Given the description of an element on the screen output the (x, y) to click on. 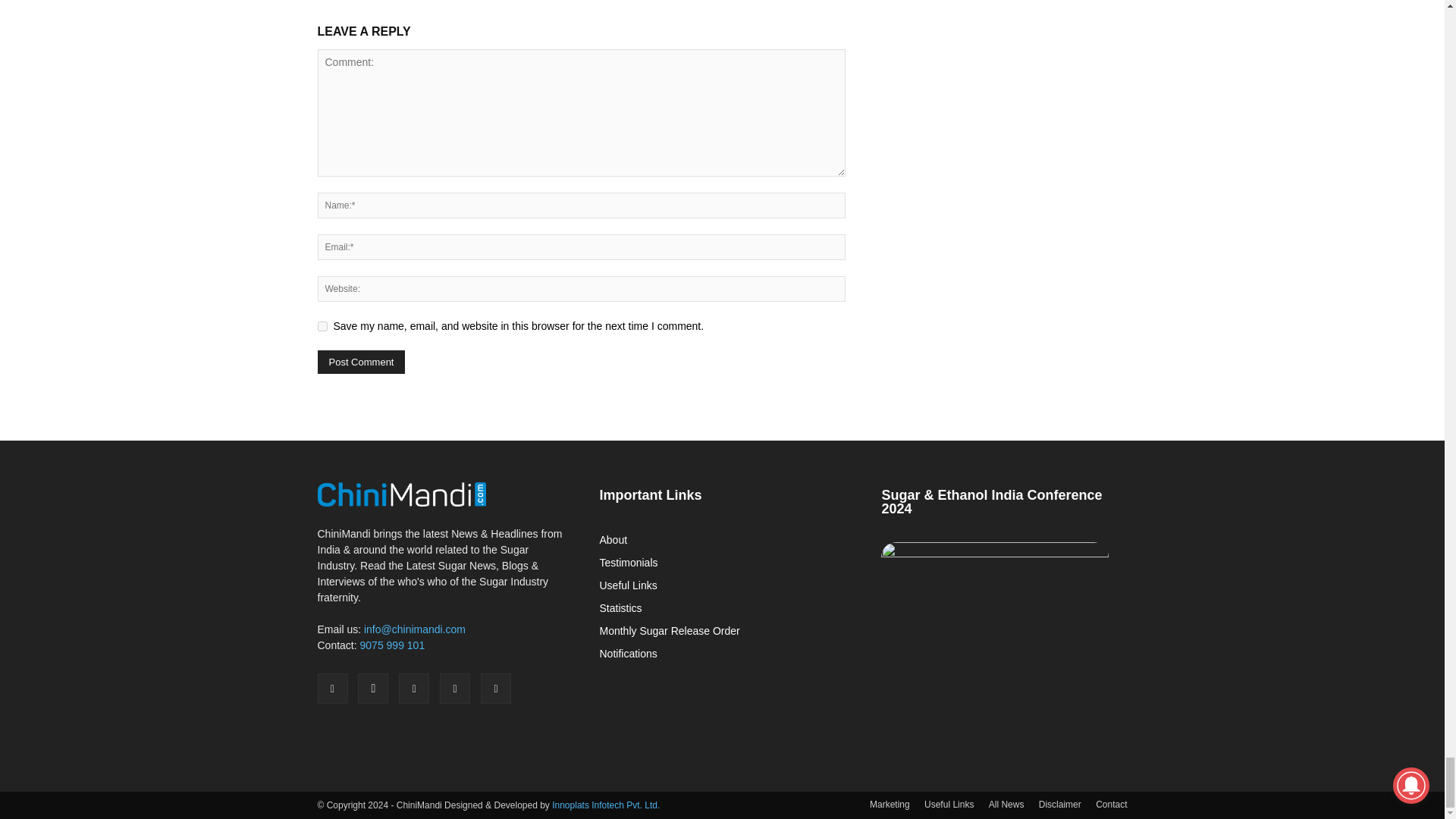
yes (321, 326)
Post Comment (360, 361)
